Given the description of an element on the screen output the (x, y) to click on. 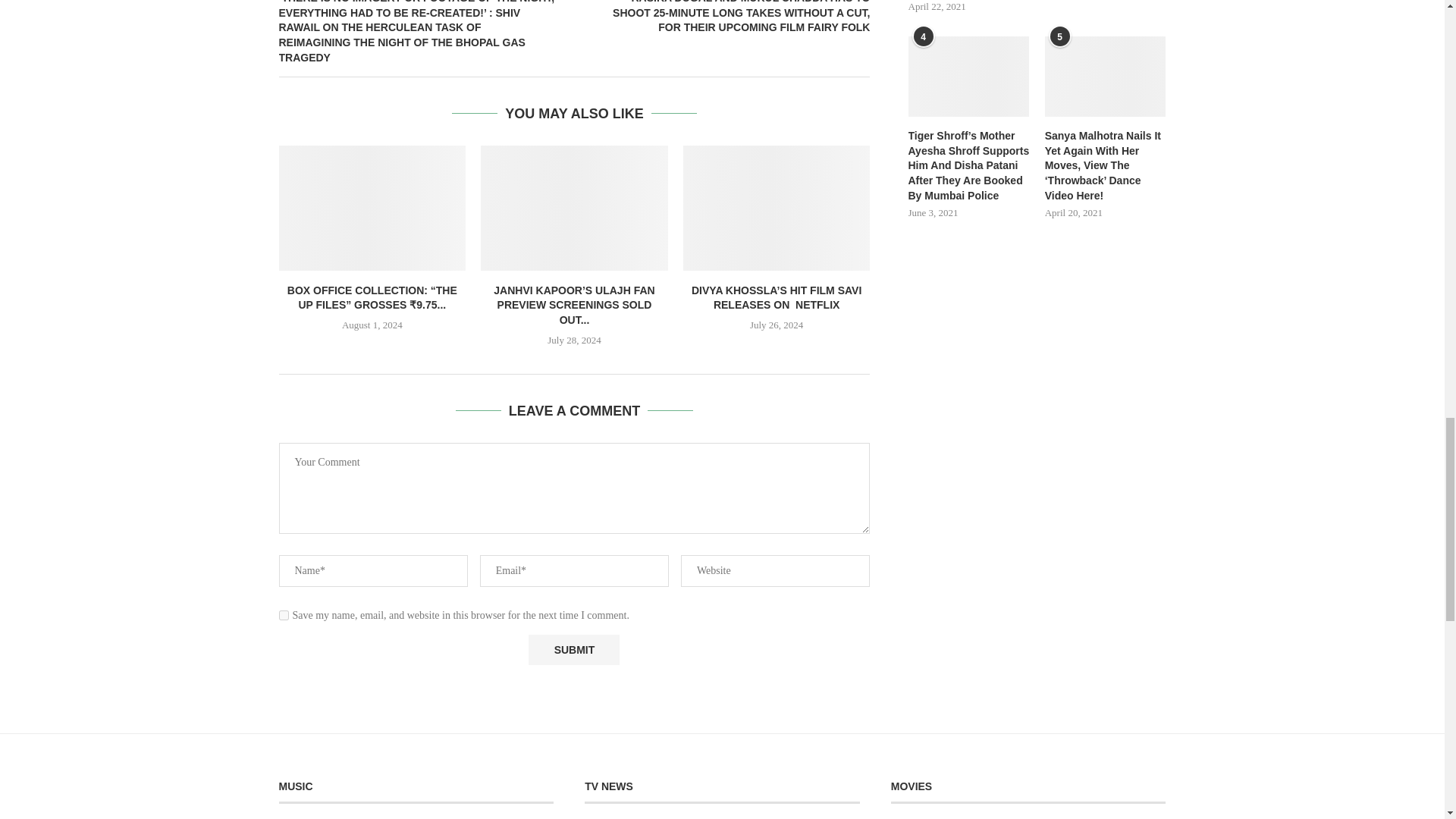
yes (283, 614)
Submit (574, 649)
